Given the description of an element on the screen output the (x, y) to click on. 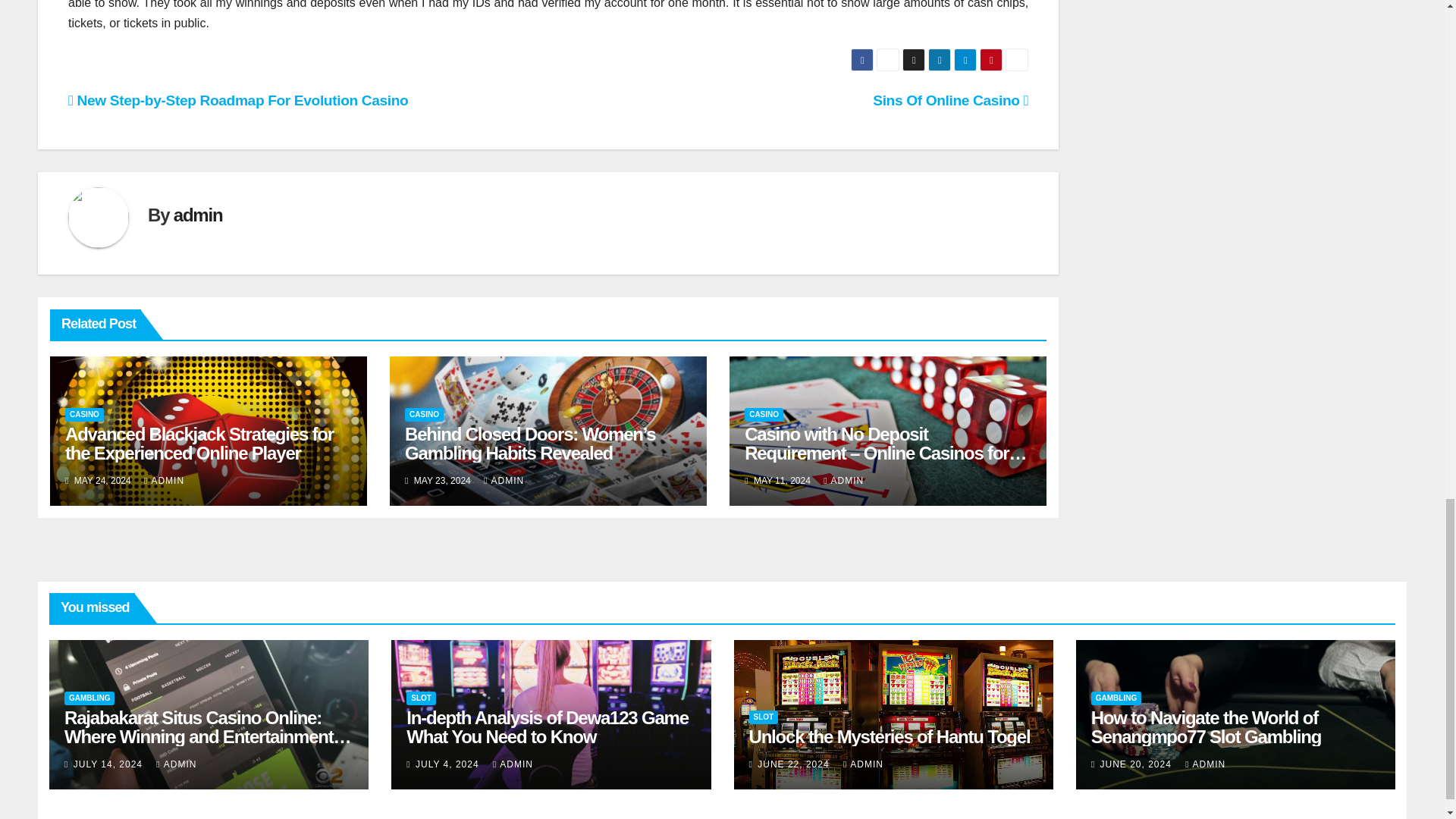
ADMIN (503, 480)
ADMIN (164, 480)
CASINO (84, 414)
CASINO (763, 414)
New Step-by-Step Roadmap For Evolution Casino (237, 100)
Sins Of Online Casino (949, 100)
CASINO (424, 414)
admin (197, 214)
Permalink to: Unlock the Mysteries of Hantu Togel (889, 736)
